Given the description of an element on the screen output the (x, y) to click on. 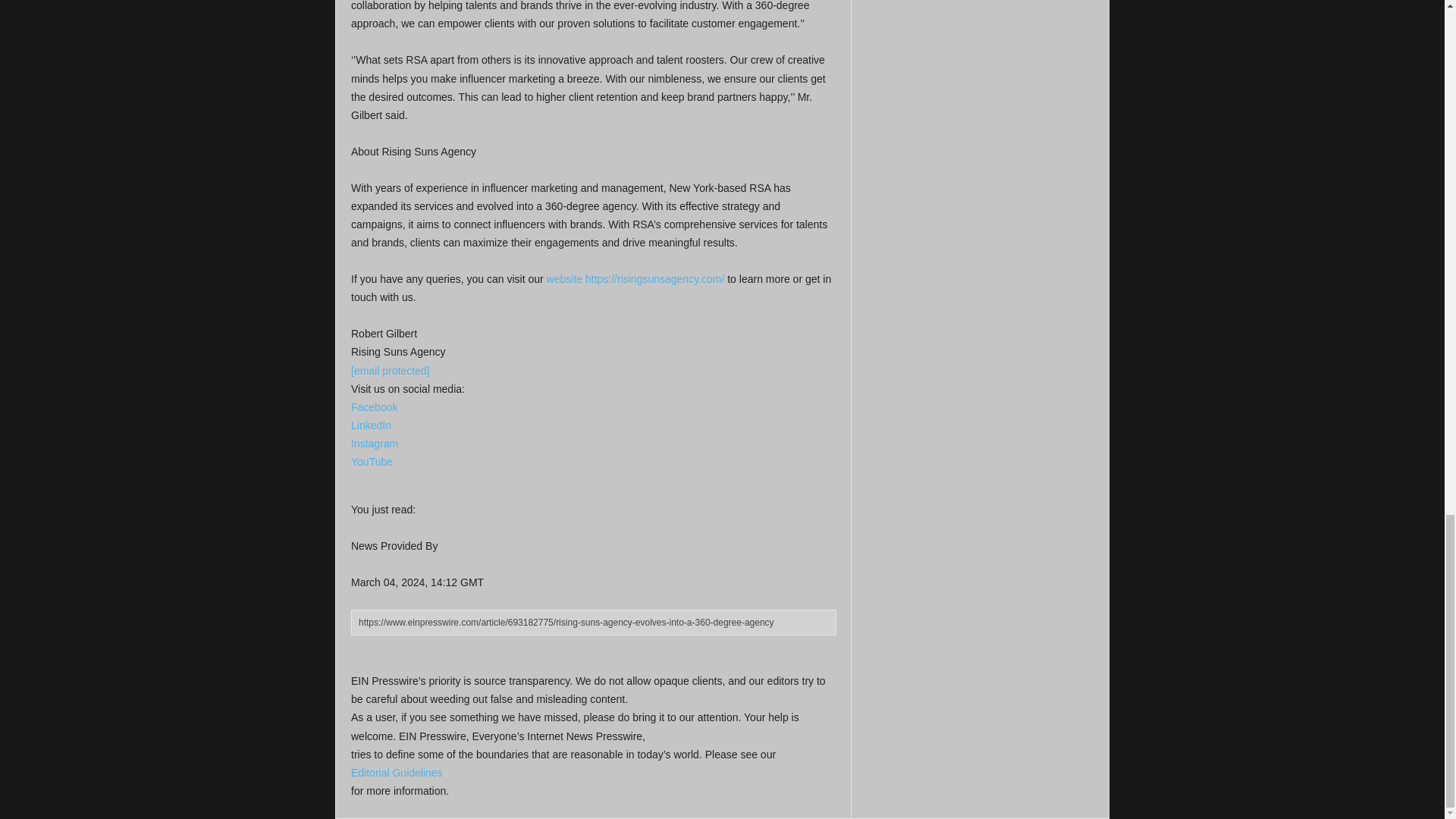
website (564, 278)
YouTube (371, 461)
LinkedIn (370, 425)
Facebook (373, 407)
Editorial Guidelines (396, 772)
Instagram (373, 443)
